Given the description of an element on the screen output the (x, y) to click on. 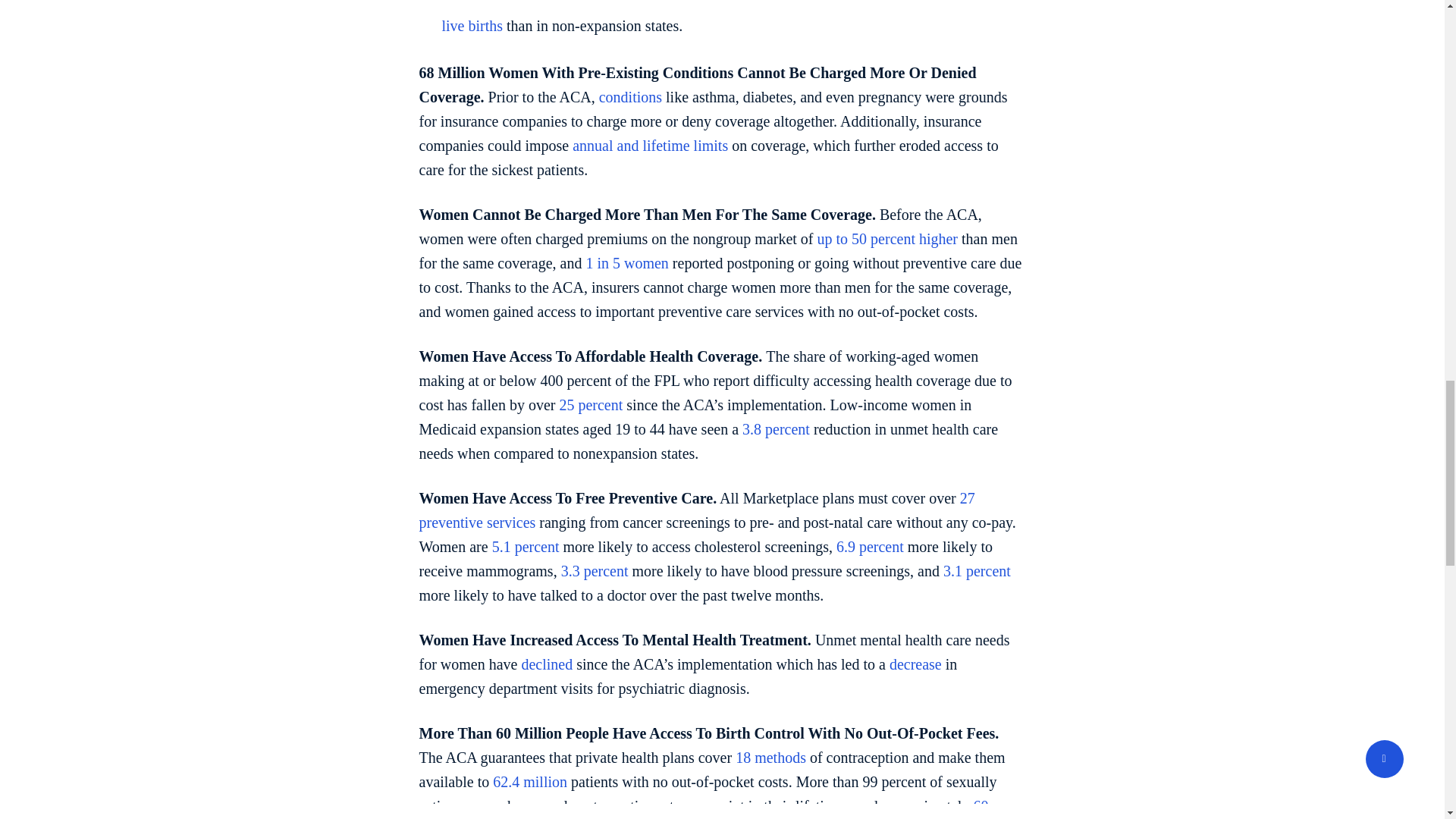
conditions (630, 96)
annual and lifetime limits (650, 145)
up to 50 percent higher (887, 238)
7.0 fewer maternal deaths per 100,000 live births (728, 17)
